Given the description of an element on the screen output the (x, y) to click on. 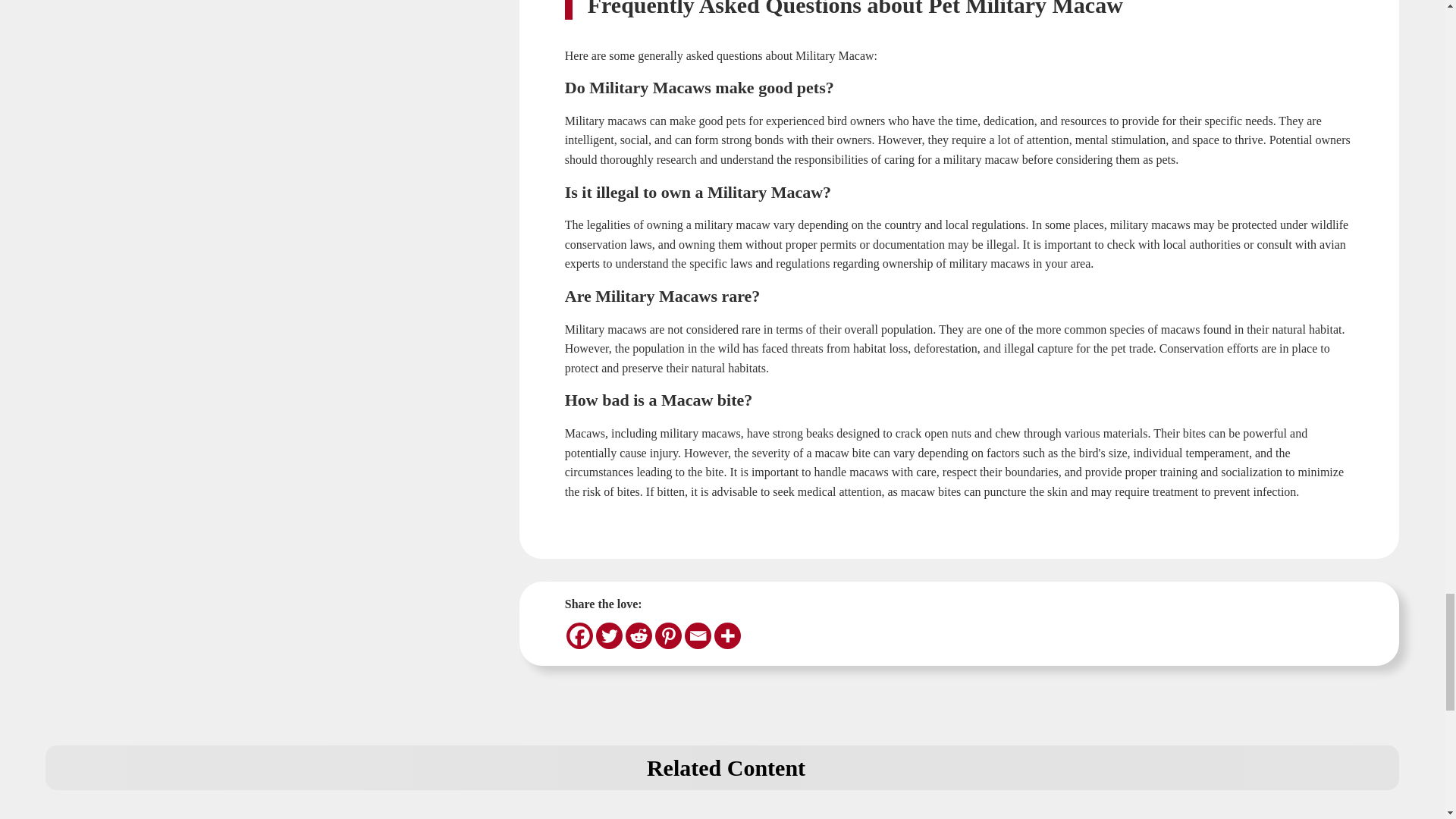
Pinterest (668, 635)
Email (697, 635)
Twitter (609, 635)
More (727, 635)
Reddit (639, 635)
Facebook (579, 635)
